Given the description of an element on the screen output the (x, y) to click on. 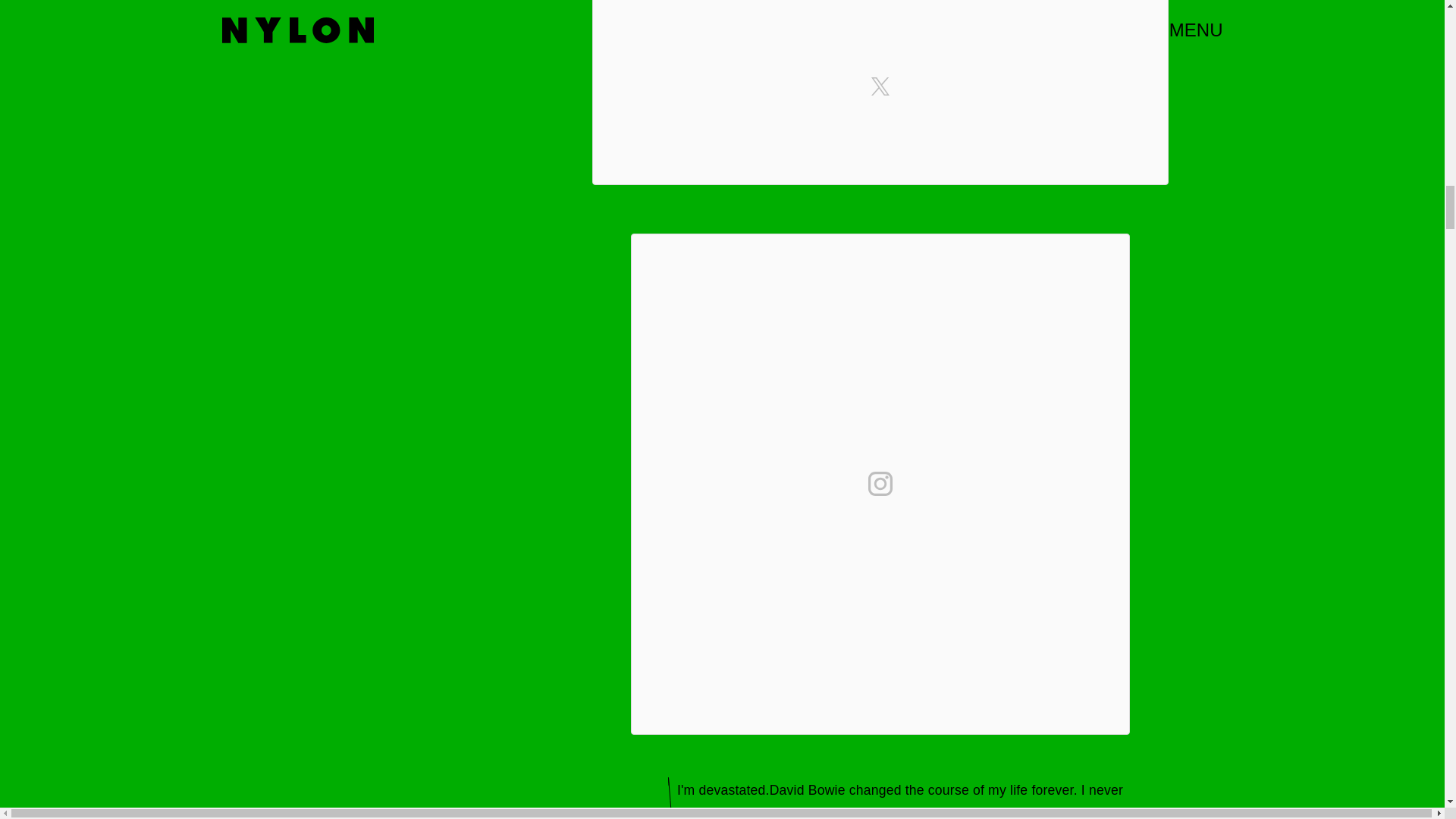
Monday, January 11, 2016 (896, 814)
View on Instagram (879, 484)
Madonna (1012, 814)
